Given the description of an element on the screen output the (x, y) to click on. 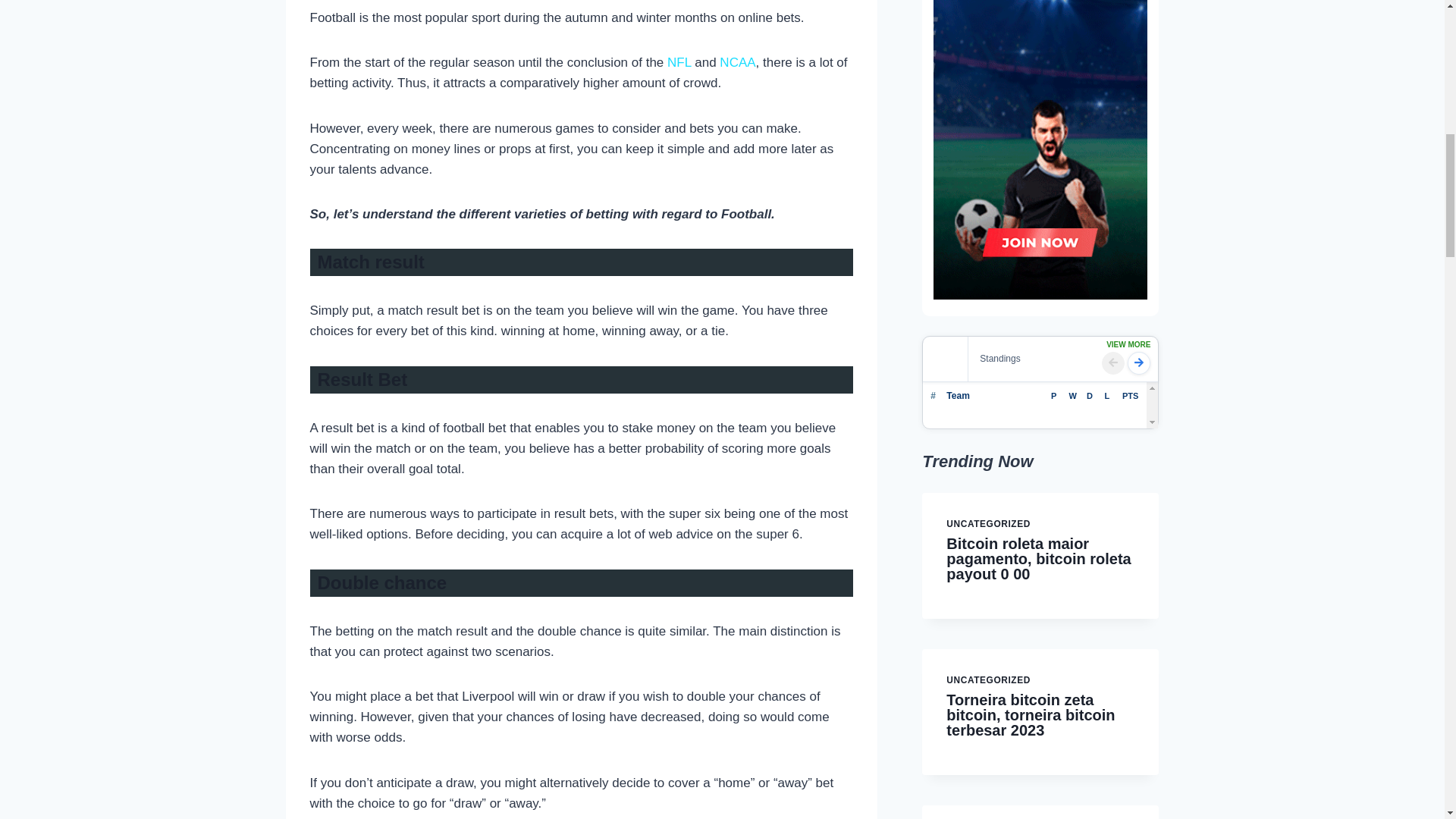
NCAA (737, 62)
NFL (678, 62)
UNCATEGORIZED (988, 523)
Bitcoin roleta maior pagamento, bitcoin roleta payout 0 00 (1038, 558)
UNCATEGORIZED (988, 679)
